Given the description of an element on the screen output the (x, y) to click on. 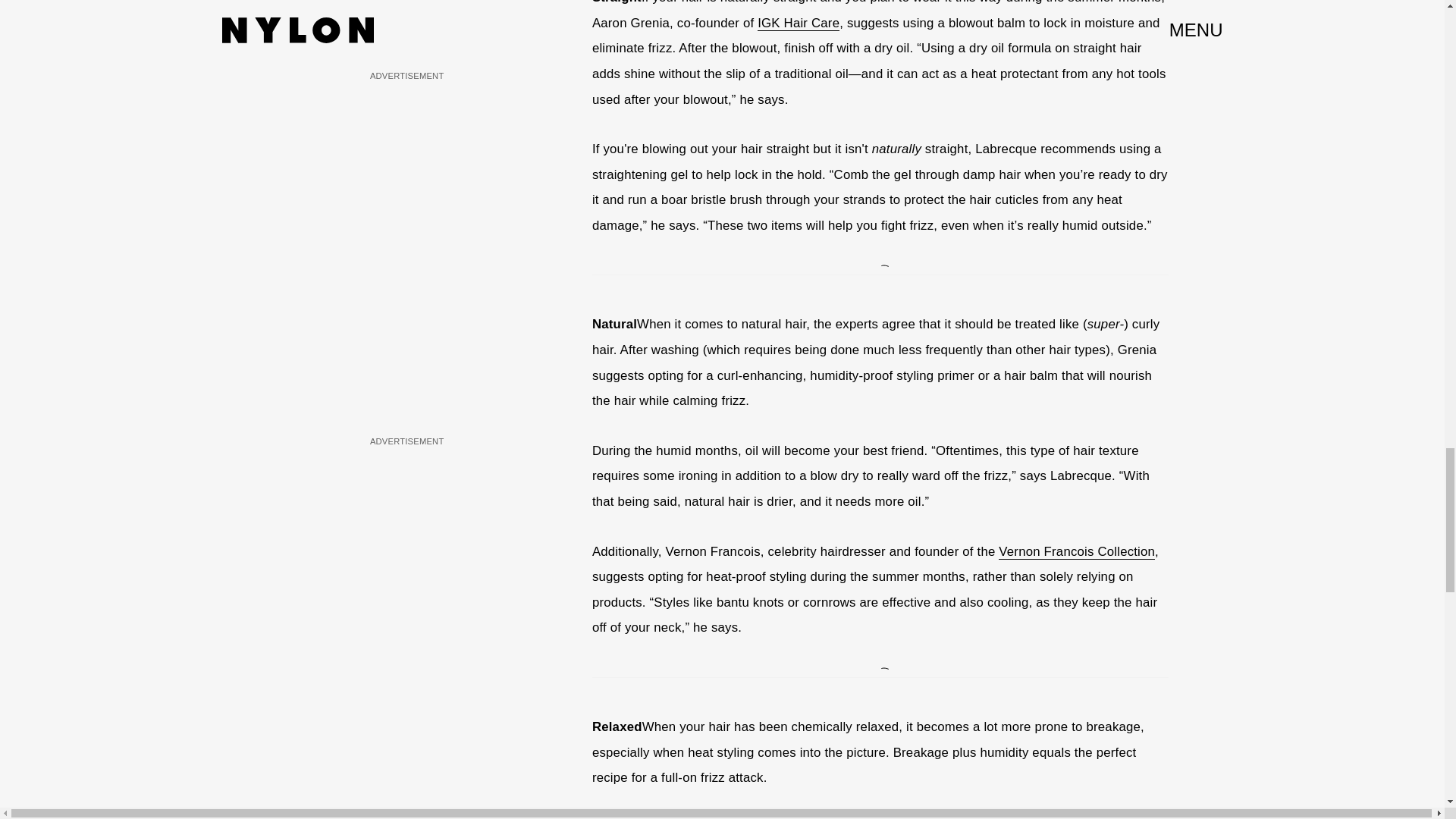
Vernon Francois Collection (1076, 551)
IGK Hair Care (798, 23)
